Given the description of an element on the screen output the (x, y) to click on. 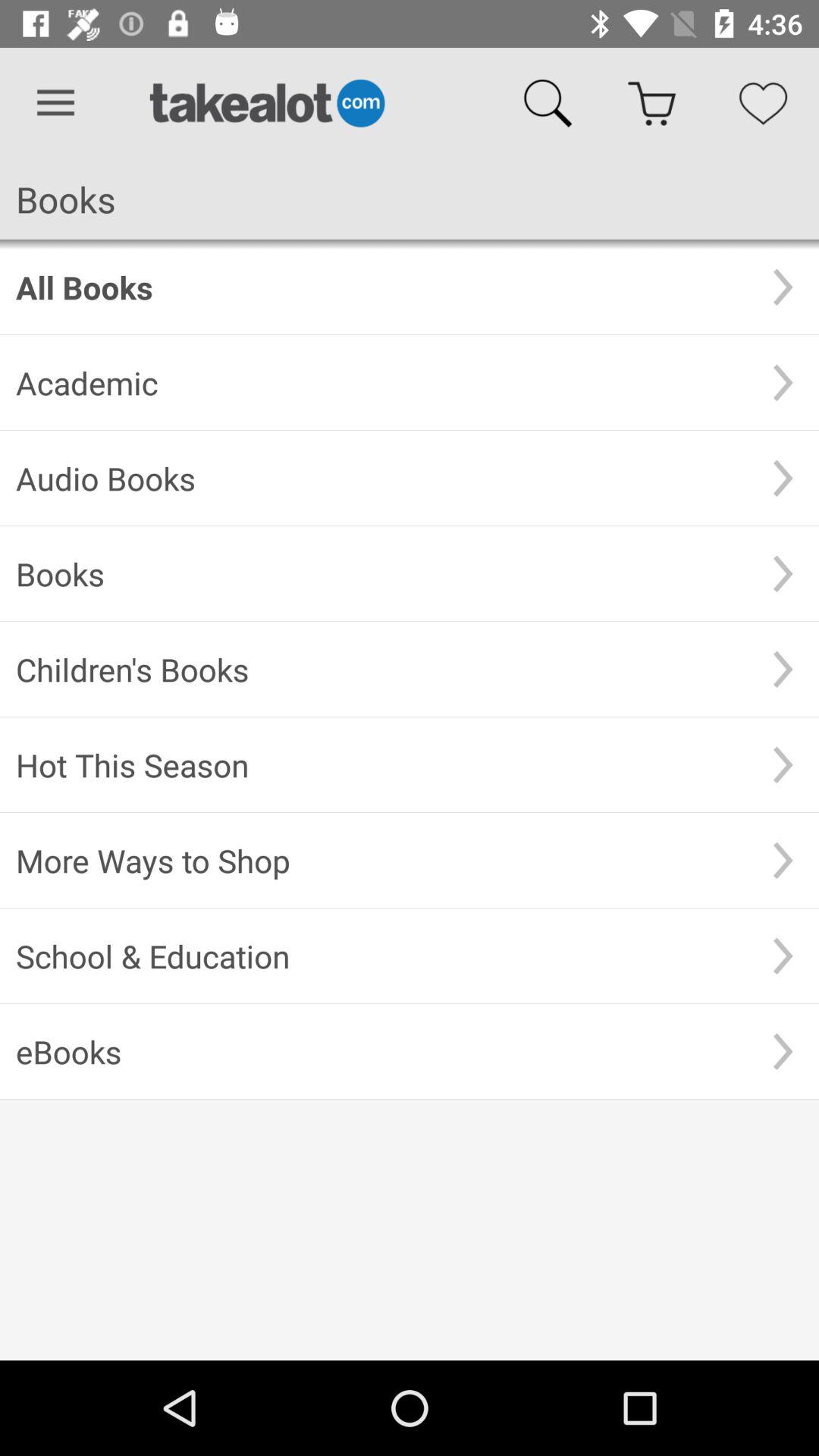
select the audio books (381, 478)
